Given the description of an element on the screen output the (x, y) to click on. 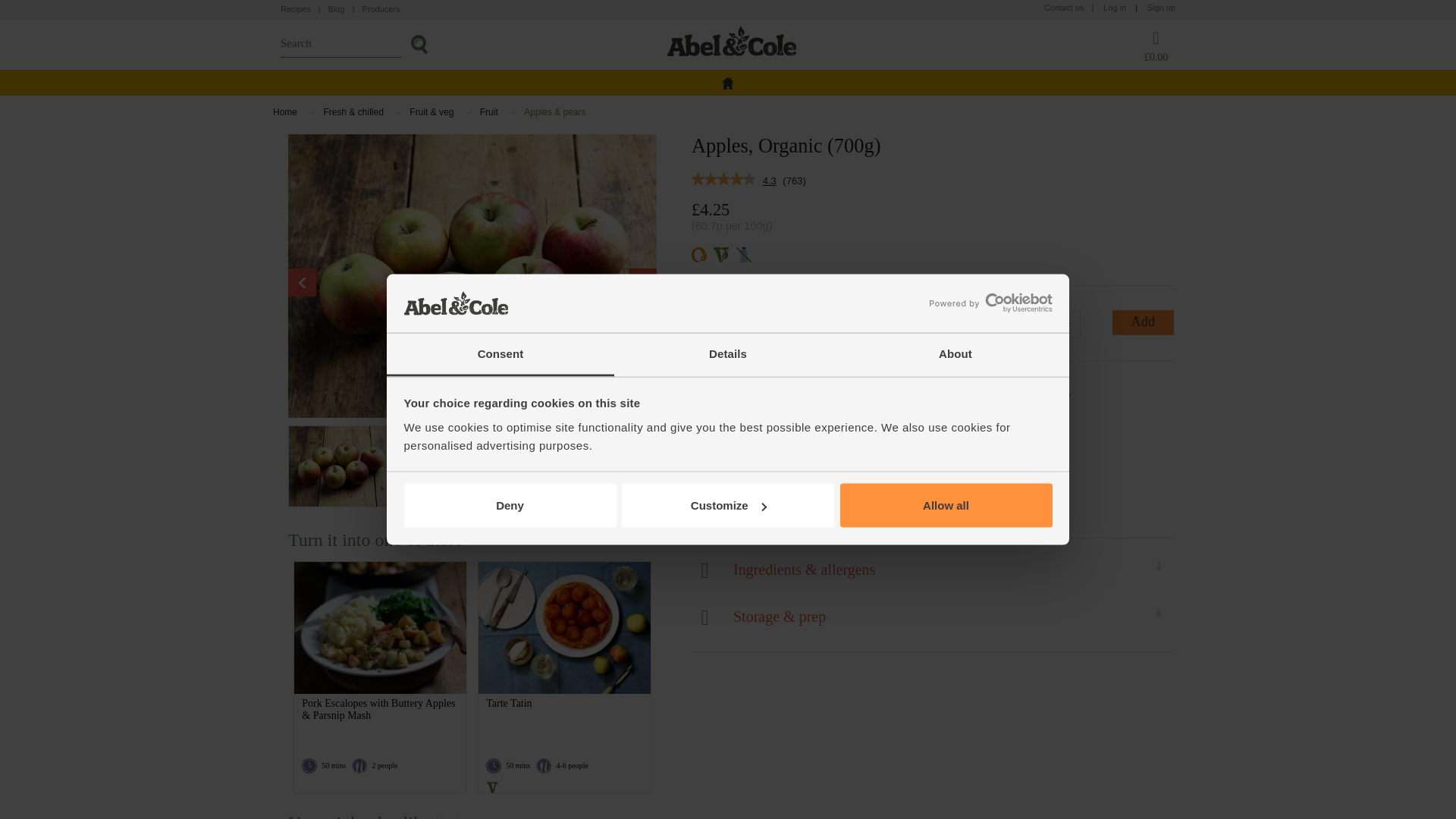
Search (418, 44)
Search (341, 43)
Details (727, 353)
About (954, 353)
Consent (500, 353)
Organic (698, 254)
Vegan (721, 254)
Read 763 Reviews (723, 180)
Add (1142, 322)
